Given the description of an element on the screen output the (x, y) to click on. 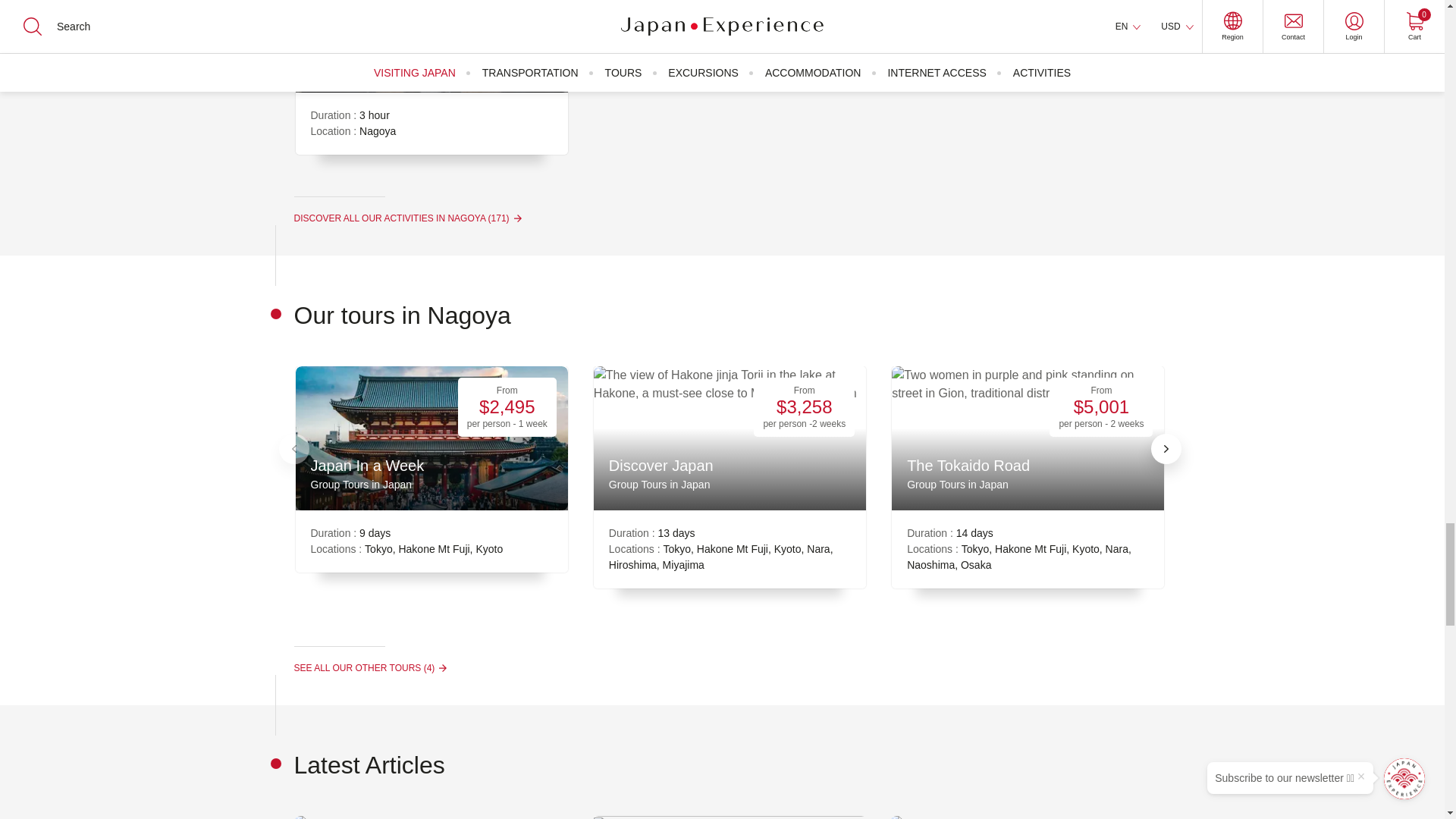
Meijimurabunkazai21 (1027, 817)
